Given the description of an element on the screen output the (x, y) to click on. 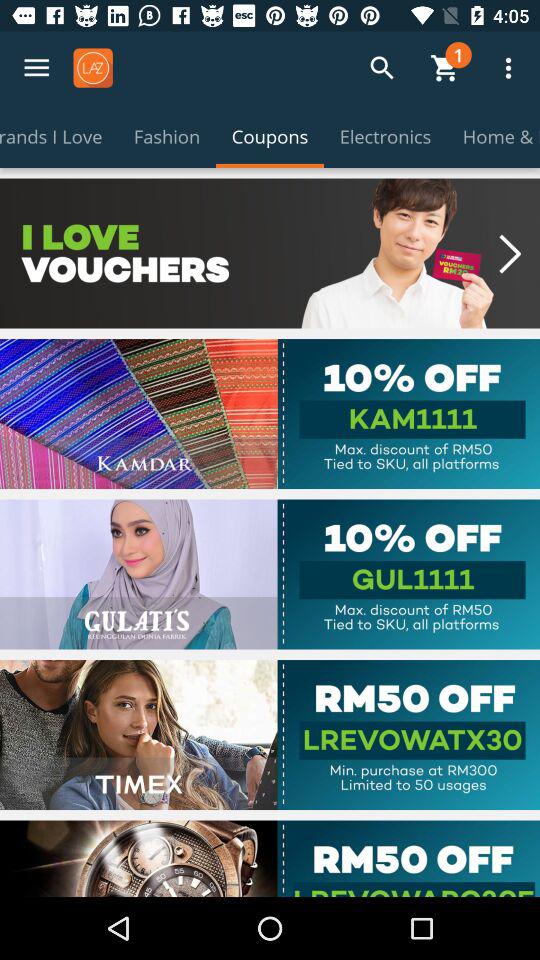
select search icon (381, 68)
